Given the description of an element on the screen output the (x, y) to click on. 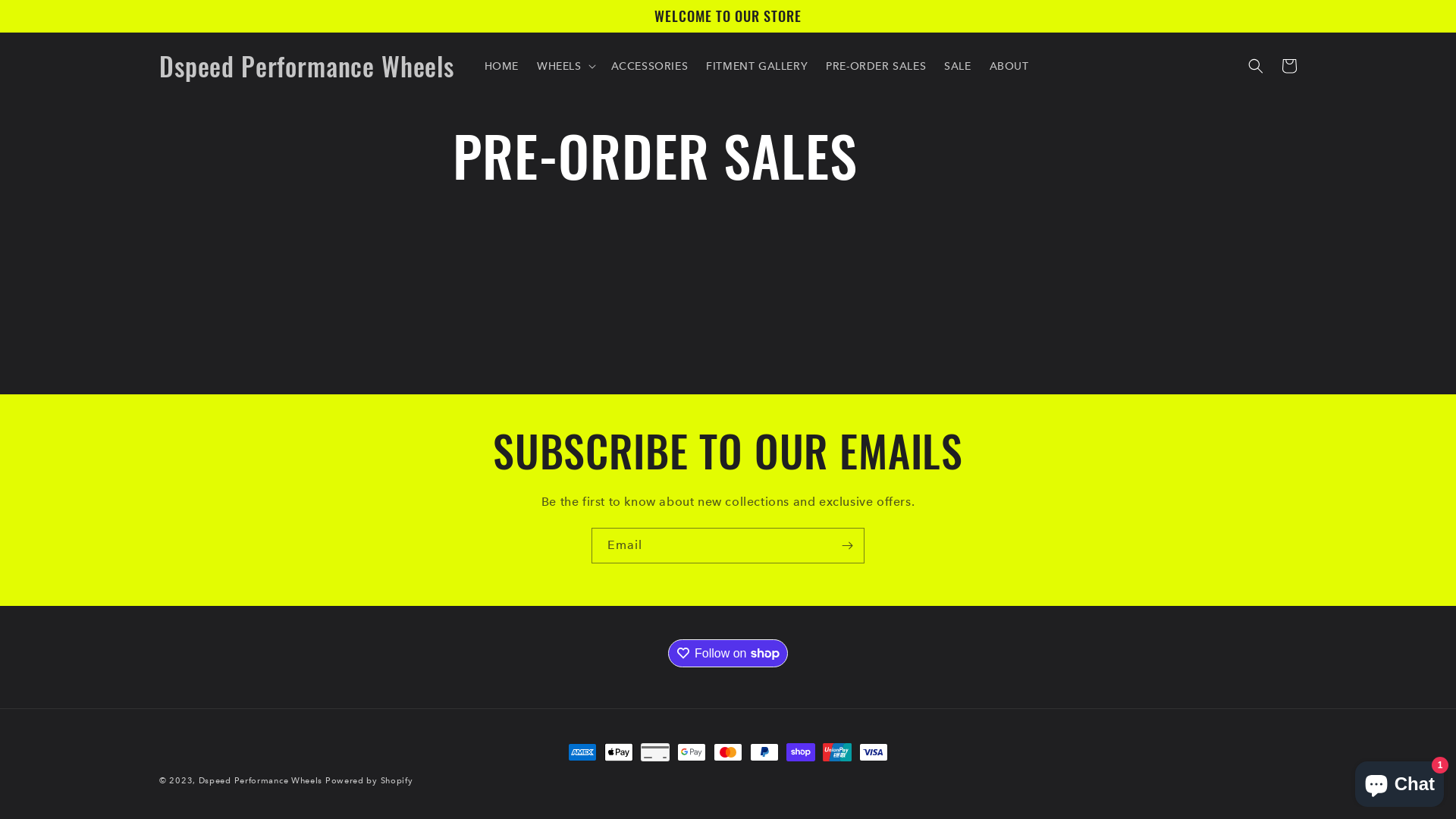
FITMENT GALLERY Element type: text (756, 65)
Cart Element type: text (1288, 65)
ABOUT Element type: text (1009, 65)
SALE Element type: text (957, 65)
HOME Element type: text (500, 65)
Dspeed Performance Wheels Element type: text (306, 65)
PRE-ORDER SALES Element type: text (875, 65)
Dspeed Performance Wheels Element type: text (260, 780)
ACCESSORIES Element type: text (649, 65)
Powered by Shopify Element type: text (369, 780)
Shopify online store chat Element type: hover (1399, 780)
